Given the description of an element on the screen output the (x, y) to click on. 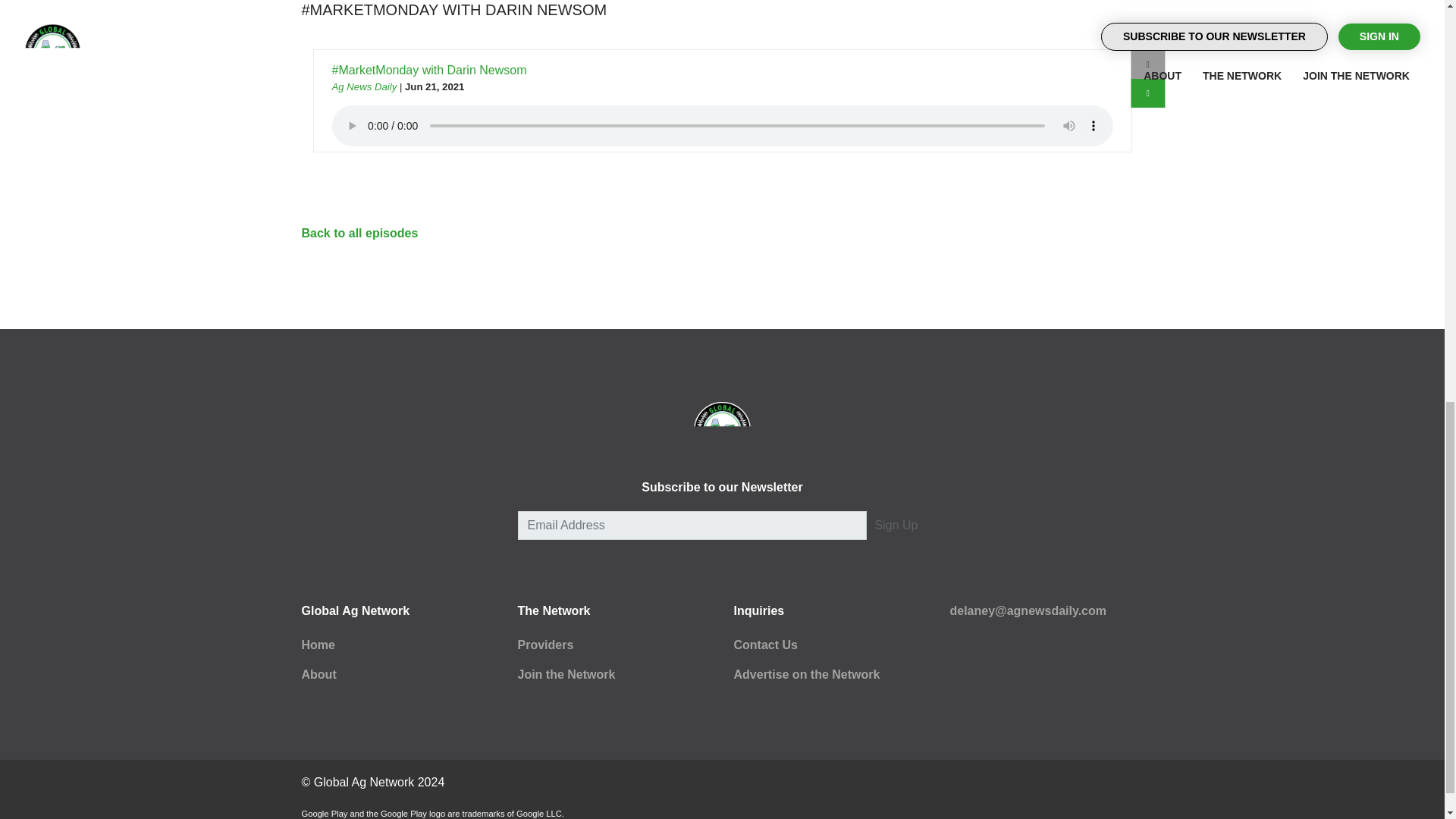
About (318, 674)
Contact Us (765, 644)
Advertise on the Network (806, 674)
Join the Network (565, 674)
Home (317, 644)
Ag News Daily (364, 86)
Embed This Episode (1147, 63)
Sign Up (896, 525)
Providers (544, 644)
Back to all episodes (360, 232)
